Given the description of an element on the screen output the (x, y) to click on. 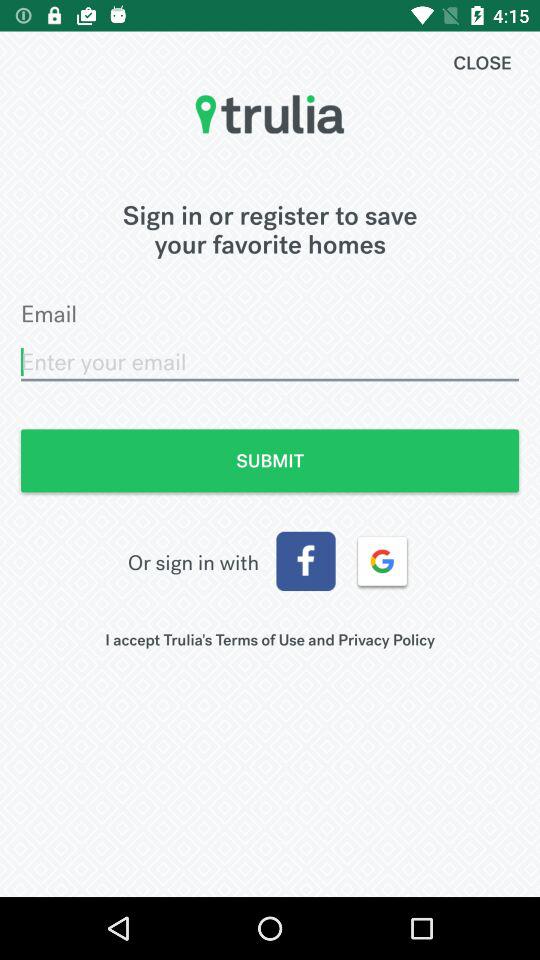
enter email (269, 362)
